Given the description of an element on the screen output the (x, y) to click on. 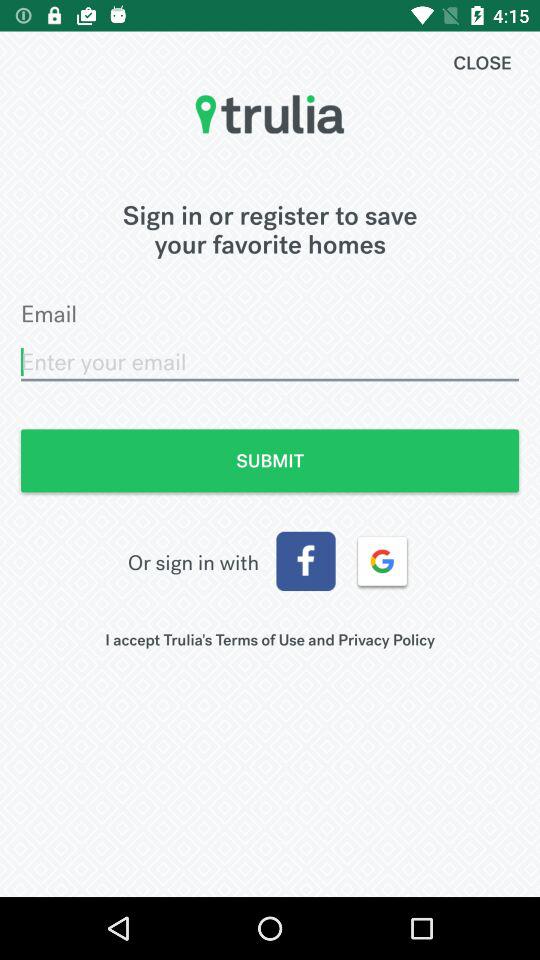
enter email (269, 362)
